Given the description of an element on the screen output the (x, y) to click on. 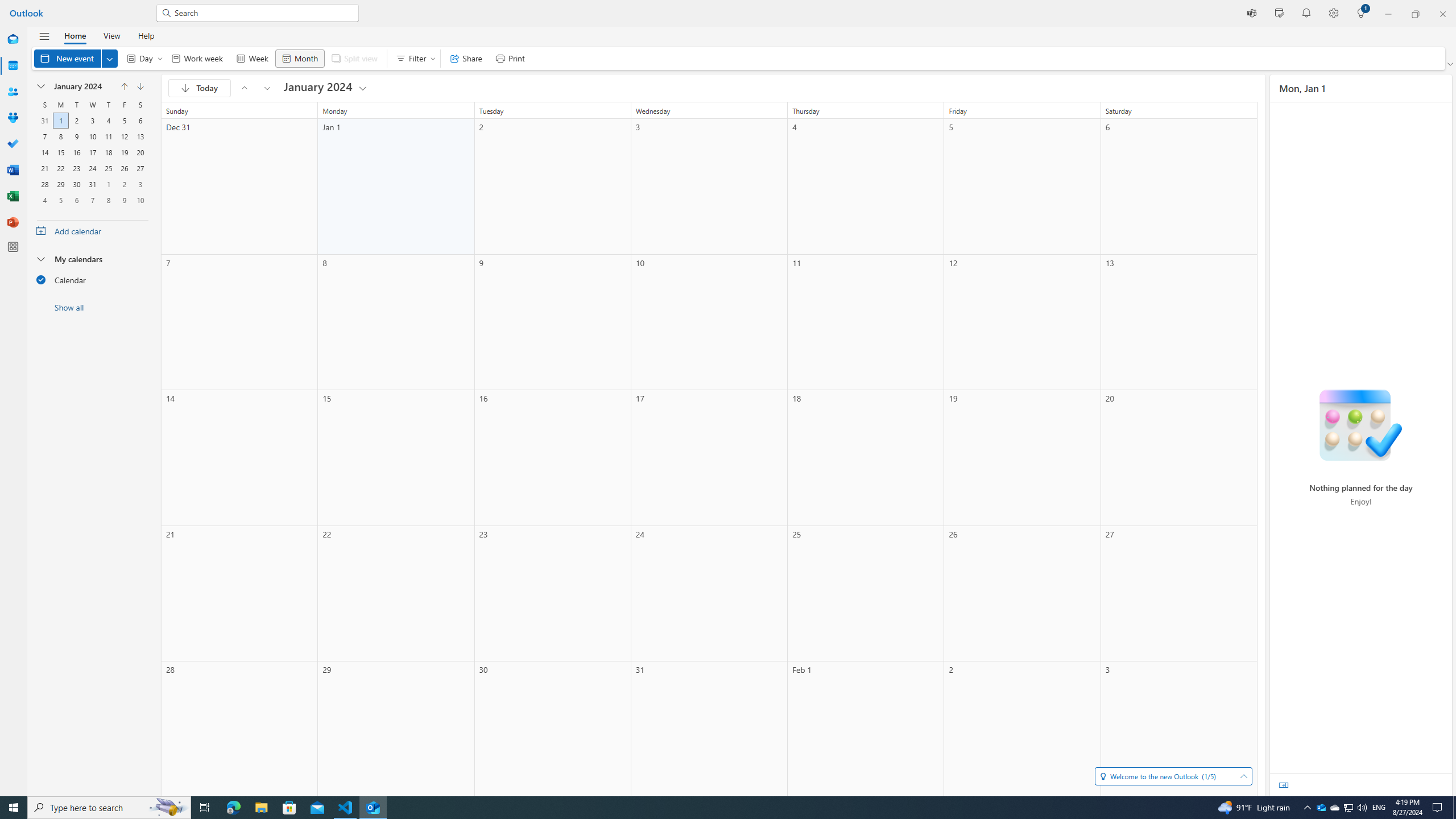
Toggle agenda pane (1283, 785)
22, January, 2024 (60, 168)
29, January, 2024 (59, 183)
16, January, 2024 (75, 151)
Go to previous month December 2023 (244, 88)
6, January, 2024 (140, 120)
Groups (12, 118)
2, February, 2024 (124, 183)
My calendars (92, 258)
13, January, 2024 (140, 136)
15, January, 2024 (60, 152)
Calendar (12, 65)
1, January, 2024 (59, 120)
